Given the description of an element on the screen output the (x, y) to click on. 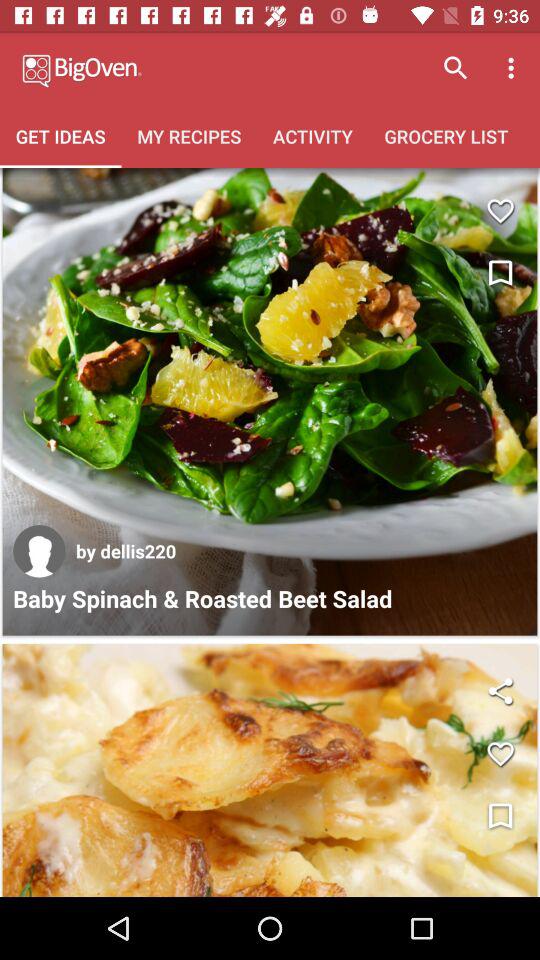
bookmark this (500, 273)
